Given the description of an element on the screen output the (x, y) to click on. 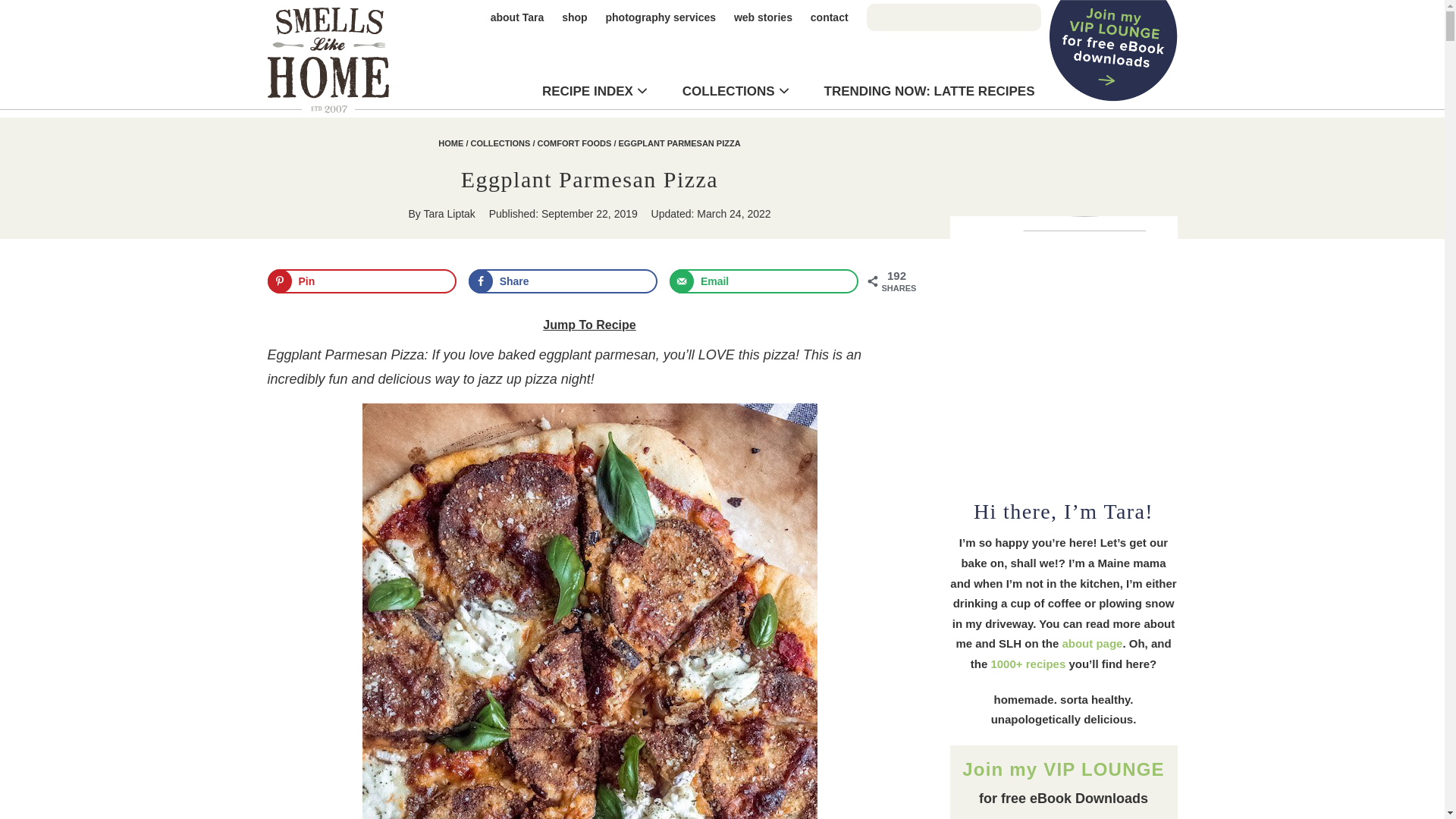
Send over email (764, 281)
RECIPE INDEX (587, 91)
Share on Facebook (563, 281)
contact (829, 17)
photography services (660, 17)
Save to Pinterest (361, 281)
Search (87, 13)
web stories (762, 17)
about Tara (517, 17)
Search (787, 186)
shop (574, 17)
